Given the description of an element on the screen output the (x, y) to click on. 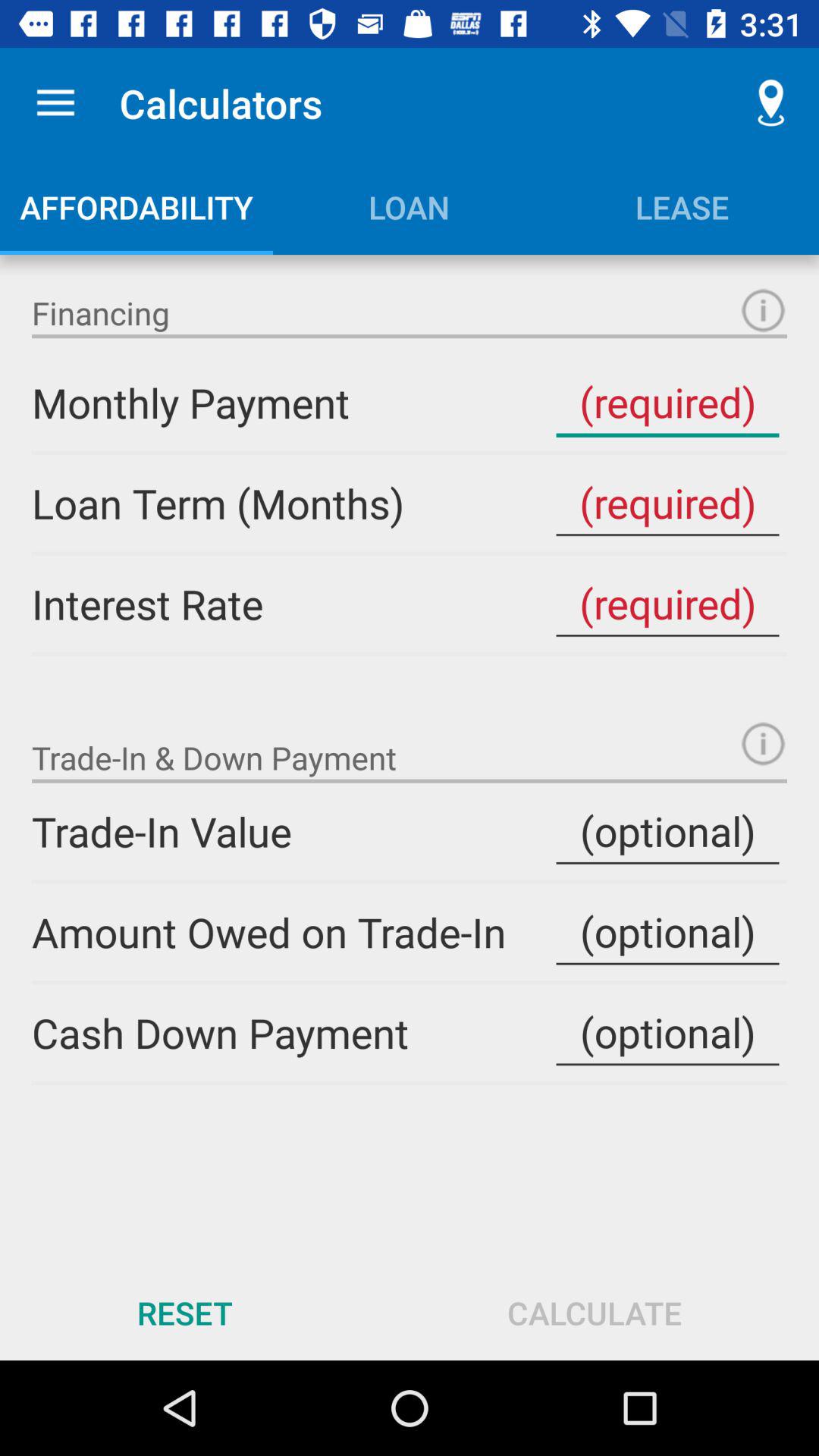
open item above affordability item (55, 103)
